Given the description of an element on the screen output the (x, y) to click on. 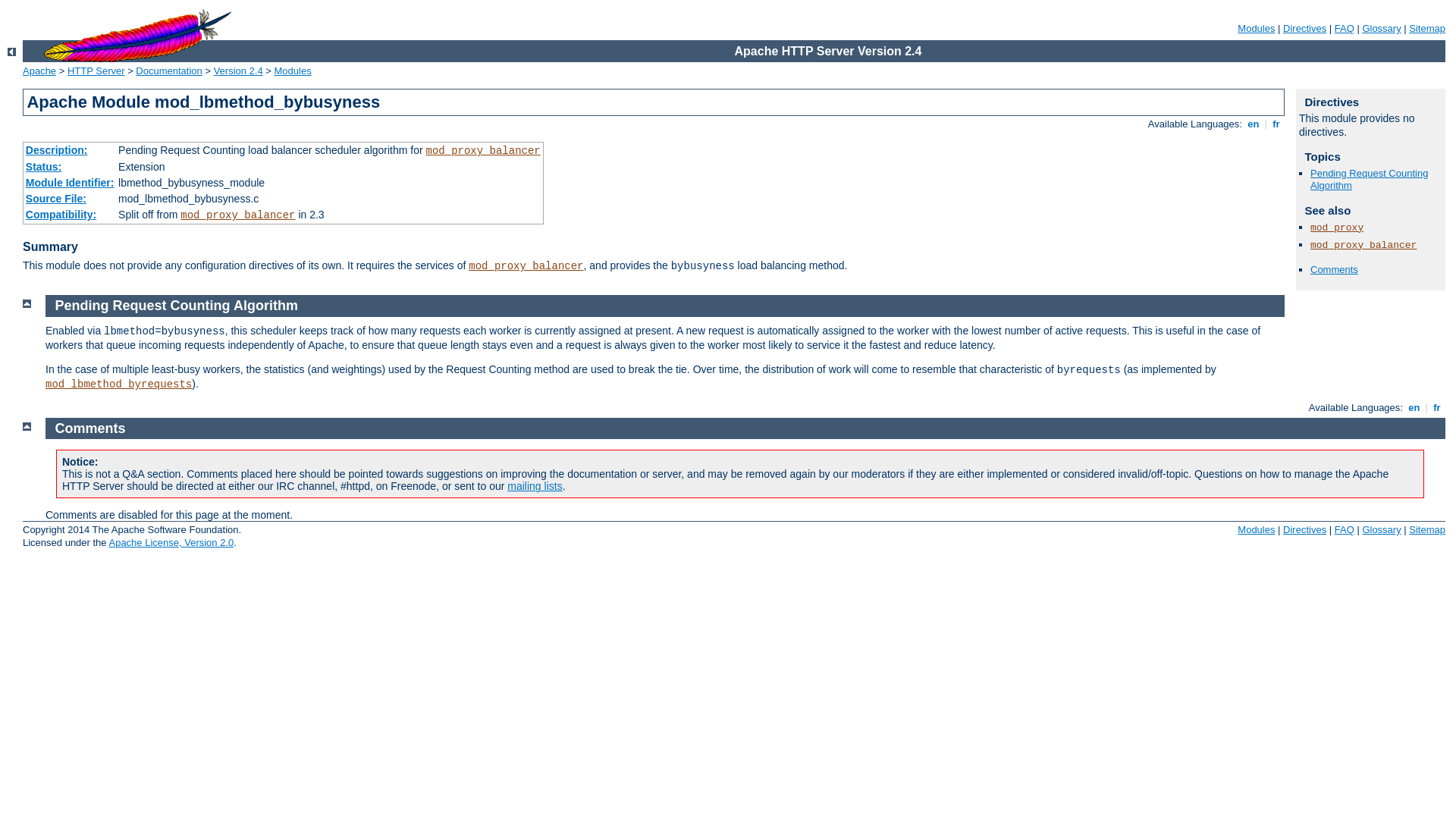
Pending Request Counting Algorithm Element type: text (176, 305)
Sitemap Element type: text (1426, 28)
 en  Element type: text (1253, 123)
Comments Element type: text (1334, 269)
mod_proxy_balancer Element type: text (237, 215)
Description: Element type: text (56, 150)
mod_proxy Element type: text (1336, 227)
 fr  Element type: text (1276, 123)
HTTP Server Element type: text (96, 70)
Comments Element type: text (90, 428)
Source File: Element type: text (55, 198)
mailing lists Element type: text (534, 486)
Status: Element type: text (43, 166)
Apache License, Version 2.0 Element type: text (170, 542)
Module Identifier: Element type: text (69, 182)
Documentation Element type: text (168, 70)
FAQ Element type: text (1344, 28)
Modules Element type: text (1255, 529)
mod_proxy_balancer Element type: text (525, 266)
Modules Element type: text (1255, 28)
mod_proxy_balancer Element type: text (1363, 245)
<- Element type: hover (11, 51)
Directives Element type: text (1304, 28)
mod_proxy_balancer Element type: text (483, 150)
Version 2.4 Element type: text (238, 70)
Glossary Element type: text (1380, 28)
FAQ Element type: text (1344, 529)
Apache Element type: text (39, 70)
Modules Element type: text (292, 70)
Glossary Element type: text (1380, 529)
 fr  Element type: text (1436, 407)
mod_lbmethod_byrequests Element type: text (118, 384)
Compatibility: Element type: text (60, 214)
 en  Element type: text (1413, 407)
Sitemap Element type: text (1426, 529)
Directives Element type: text (1304, 529)
Pending Request Counting Algorithm Element type: text (1368, 179)
